Given the description of an element on the screen output the (x, y) to click on. 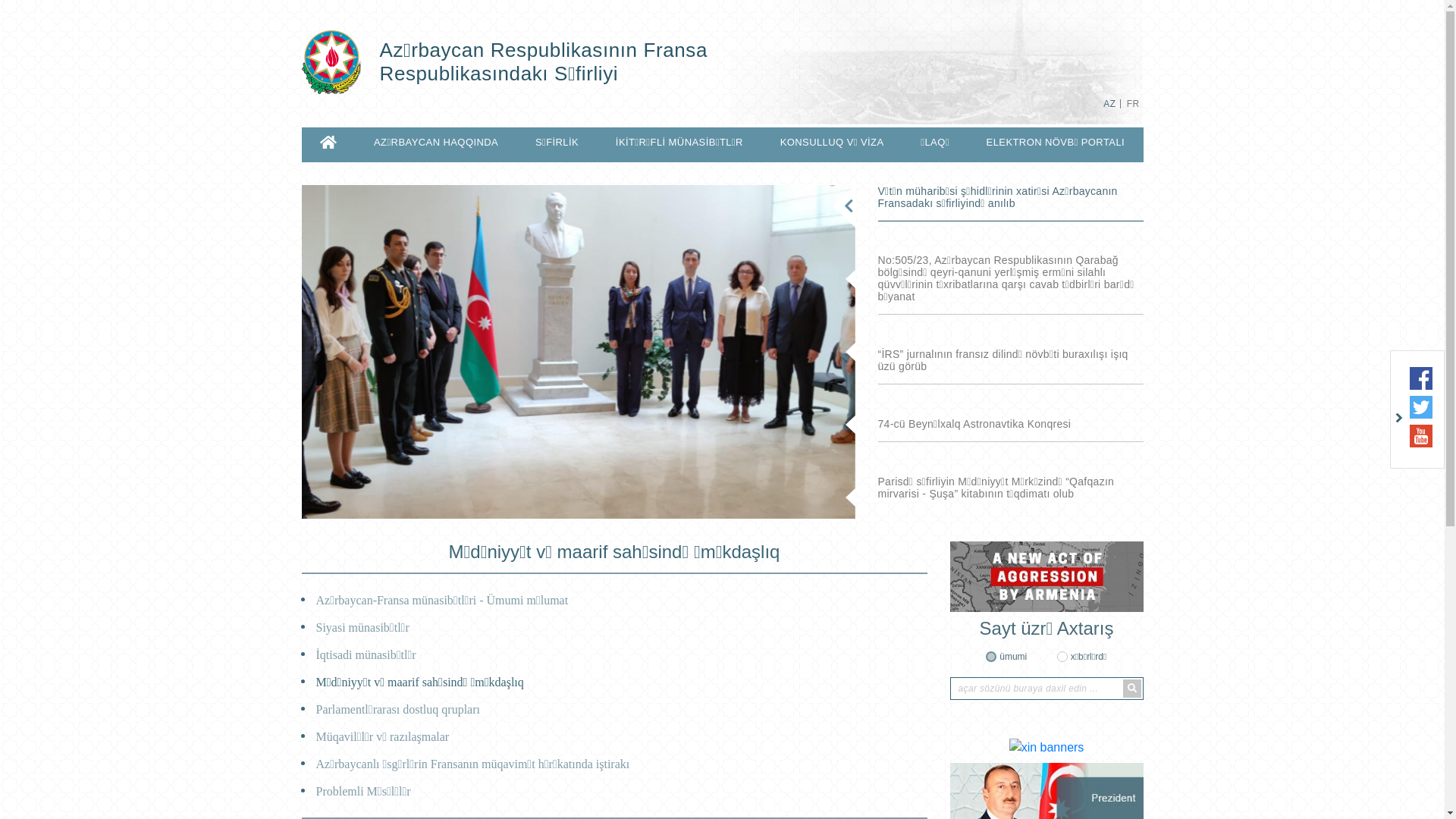
AZ Element type: text (1109, 103)
FR Element type: text (1133, 103)
